Given the description of an element on the screen output the (x, y) to click on. 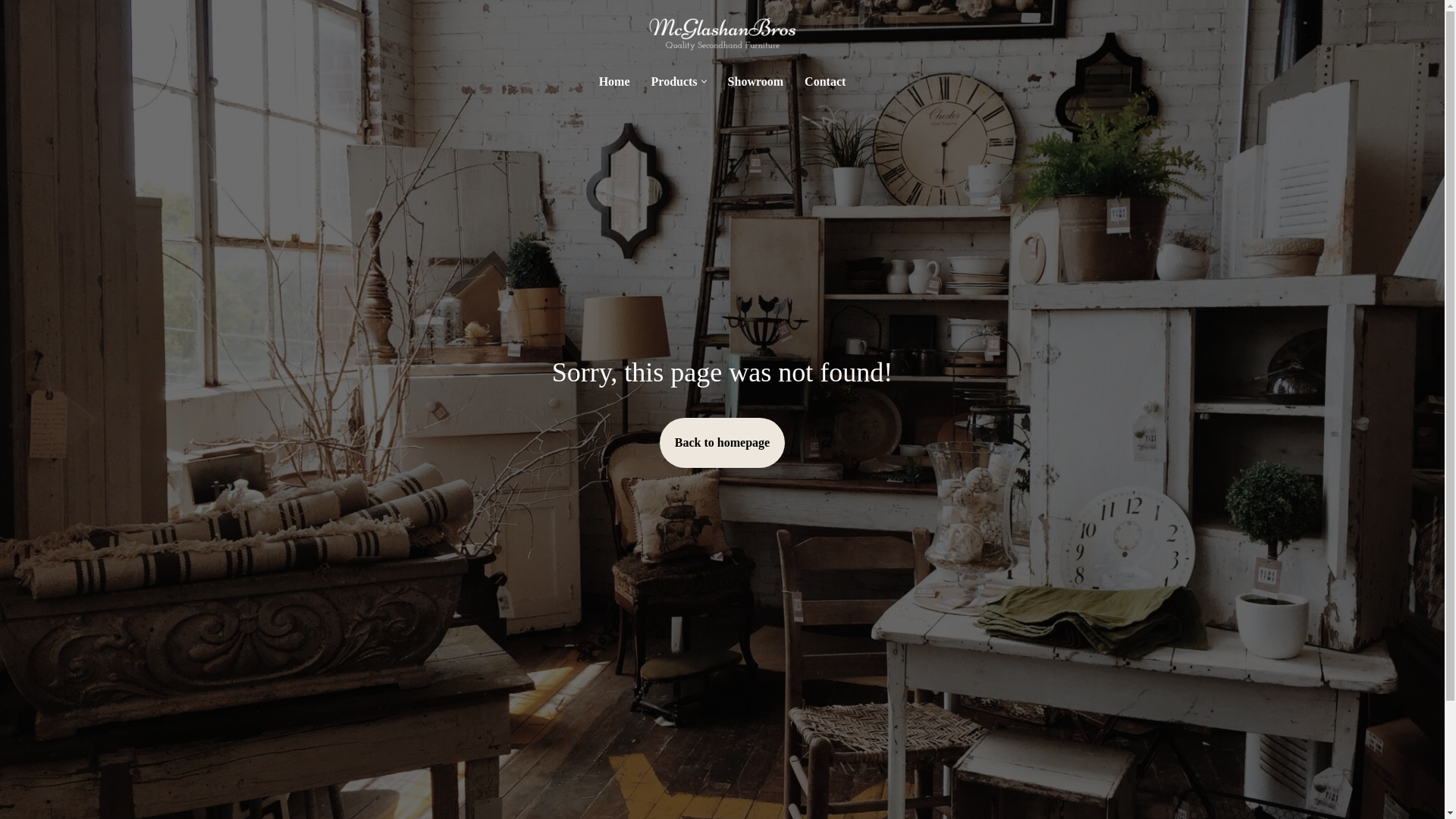
Showroom Element type: text (756, 81)
Products Element type: text (674, 81)
Back to homepage Element type: text (721, 442)
Skip to content Element type: text (11, 31)
Contact Element type: text (824, 81)
Home Element type: text (614, 81)
